Given the description of an element on the screen output the (x, y) to click on. 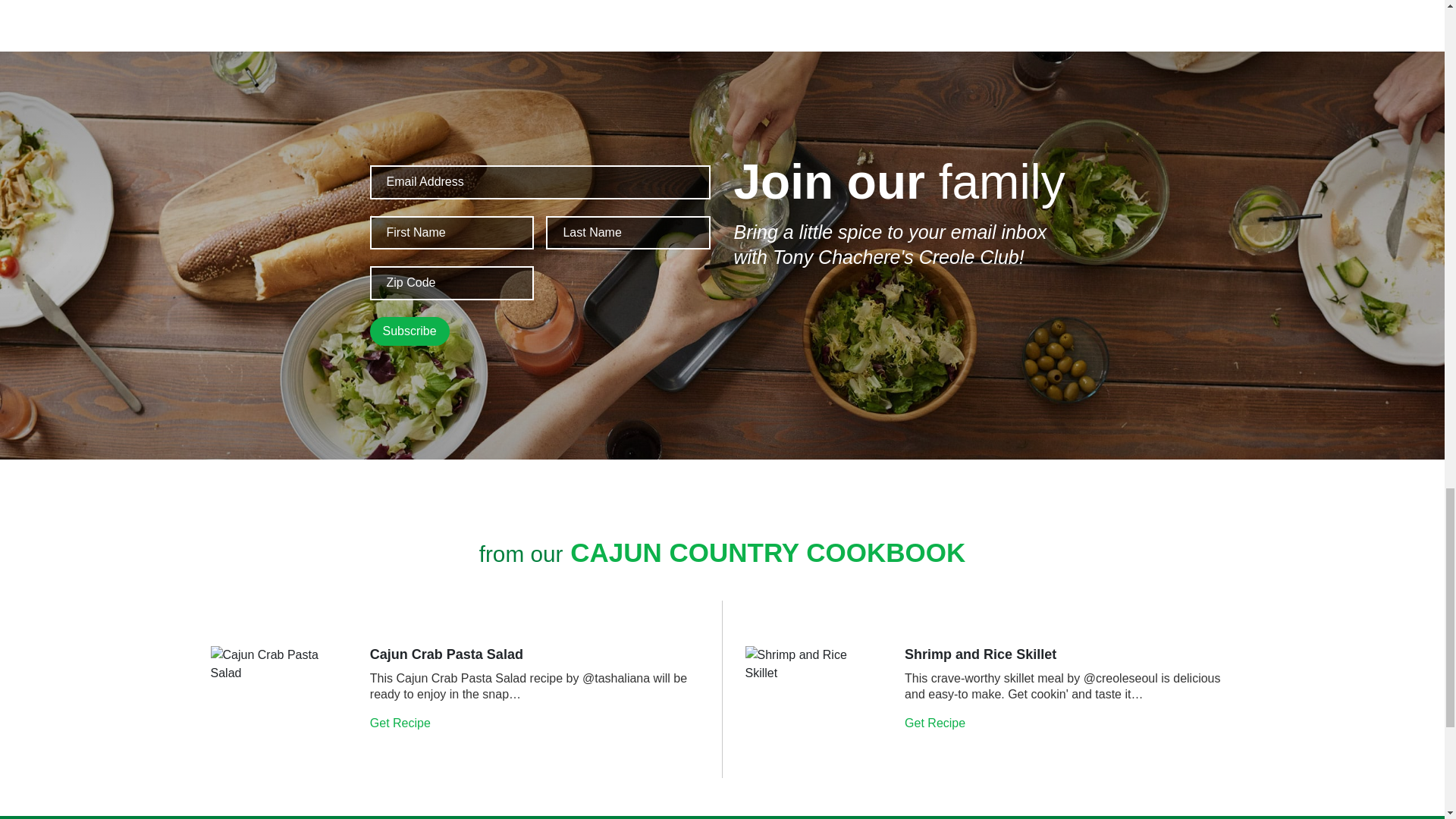
Get Recipe (936, 722)
Get Recipe (401, 722)
Subscribe (409, 330)
Subscribe (409, 330)
